Given the description of an element on the screen output the (x, y) to click on. 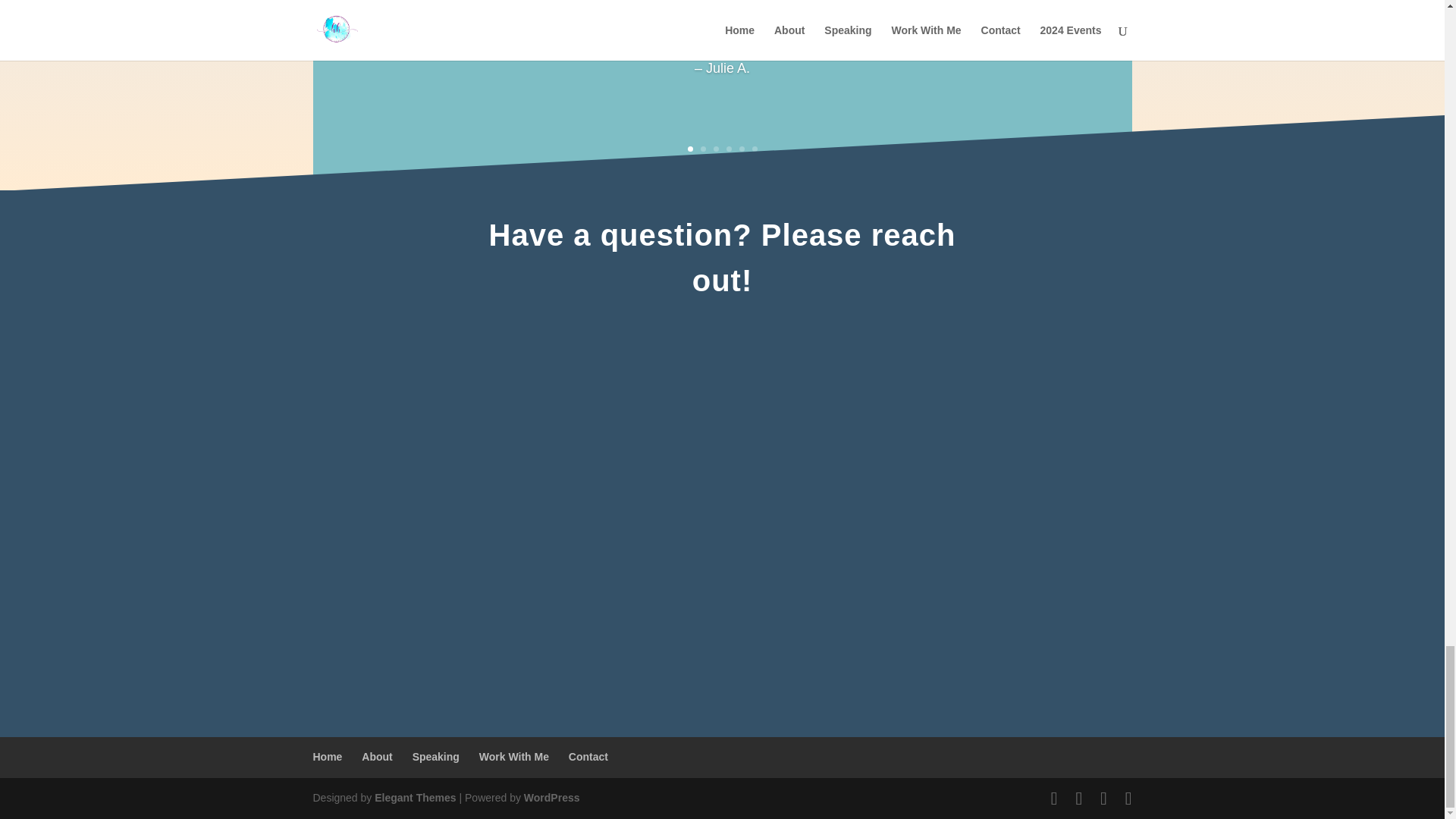
Home (327, 756)
Premium WordPress Themes (414, 797)
About (376, 756)
Speaking (436, 756)
Contact (588, 756)
Elegant Themes (414, 797)
WordPress (551, 797)
Work With Me (513, 756)
